Given the description of an element on the screen output the (x, y) to click on. 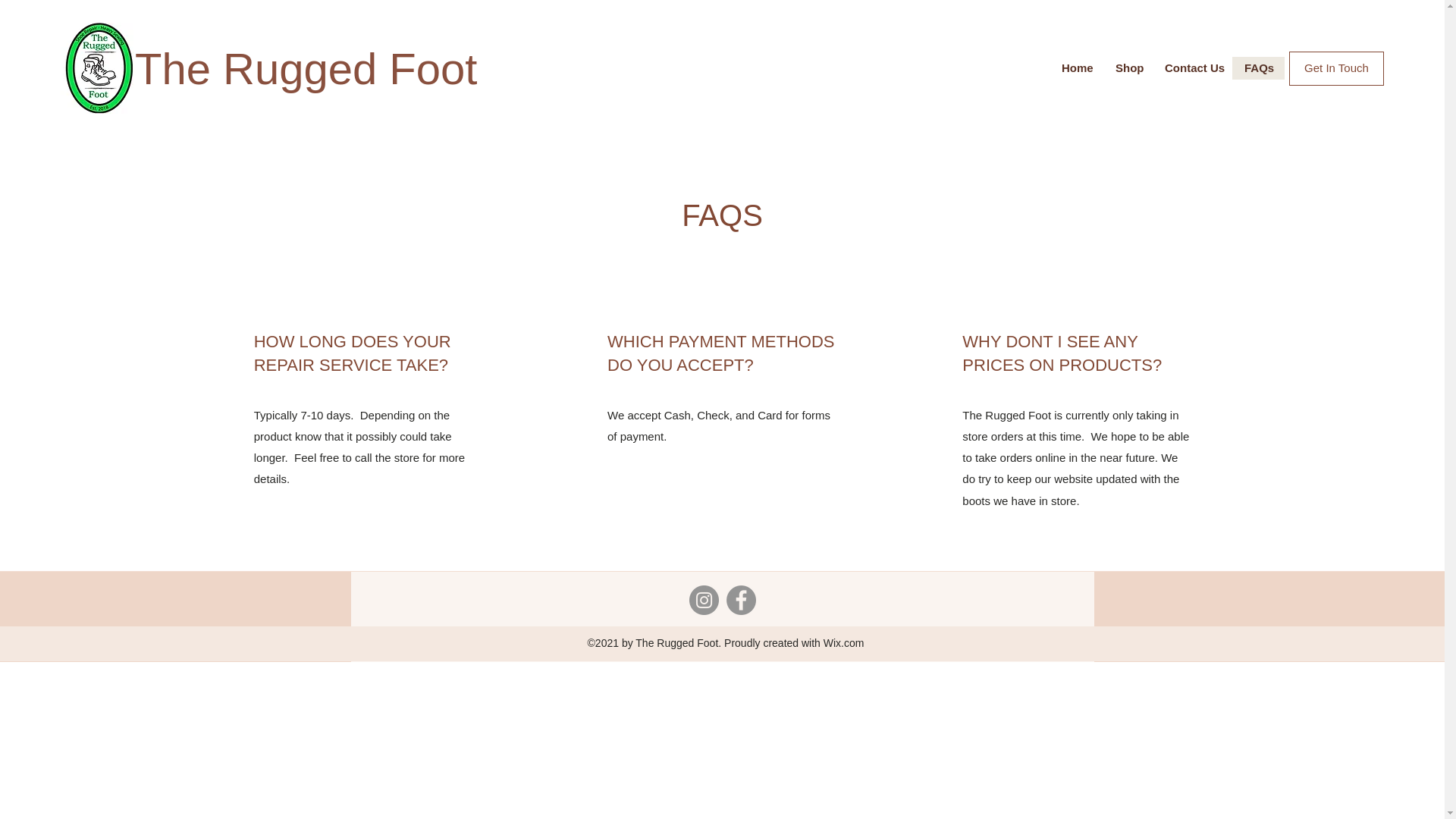
Shop (1128, 67)
Get In Touch (1336, 68)
Contact Us (1192, 67)
FAQs (1257, 67)
Home (1076, 67)
The Rugged Foot (306, 68)
